Given the description of an element on the screen output the (x, y) to click on. 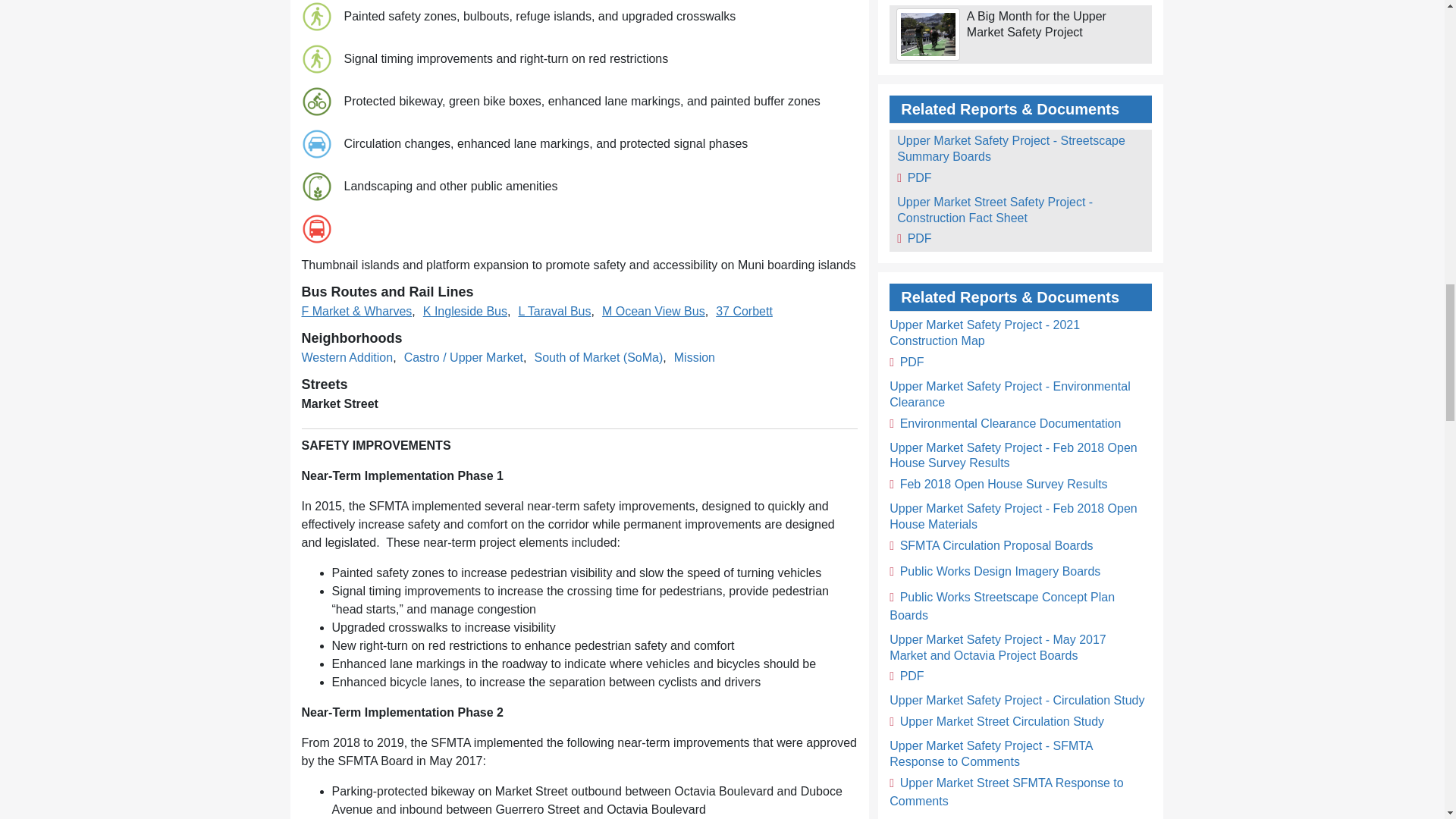
M Ocean View Bus (653, 310)
37 Corbett (744, 310)
Western Addition (347, 357)
Mission (694, 357)
K Ingleside Bus (464, 310)
L Taraval Bus (554, 310)
